Given the description of an element on the screen output the (x, y) to click on. 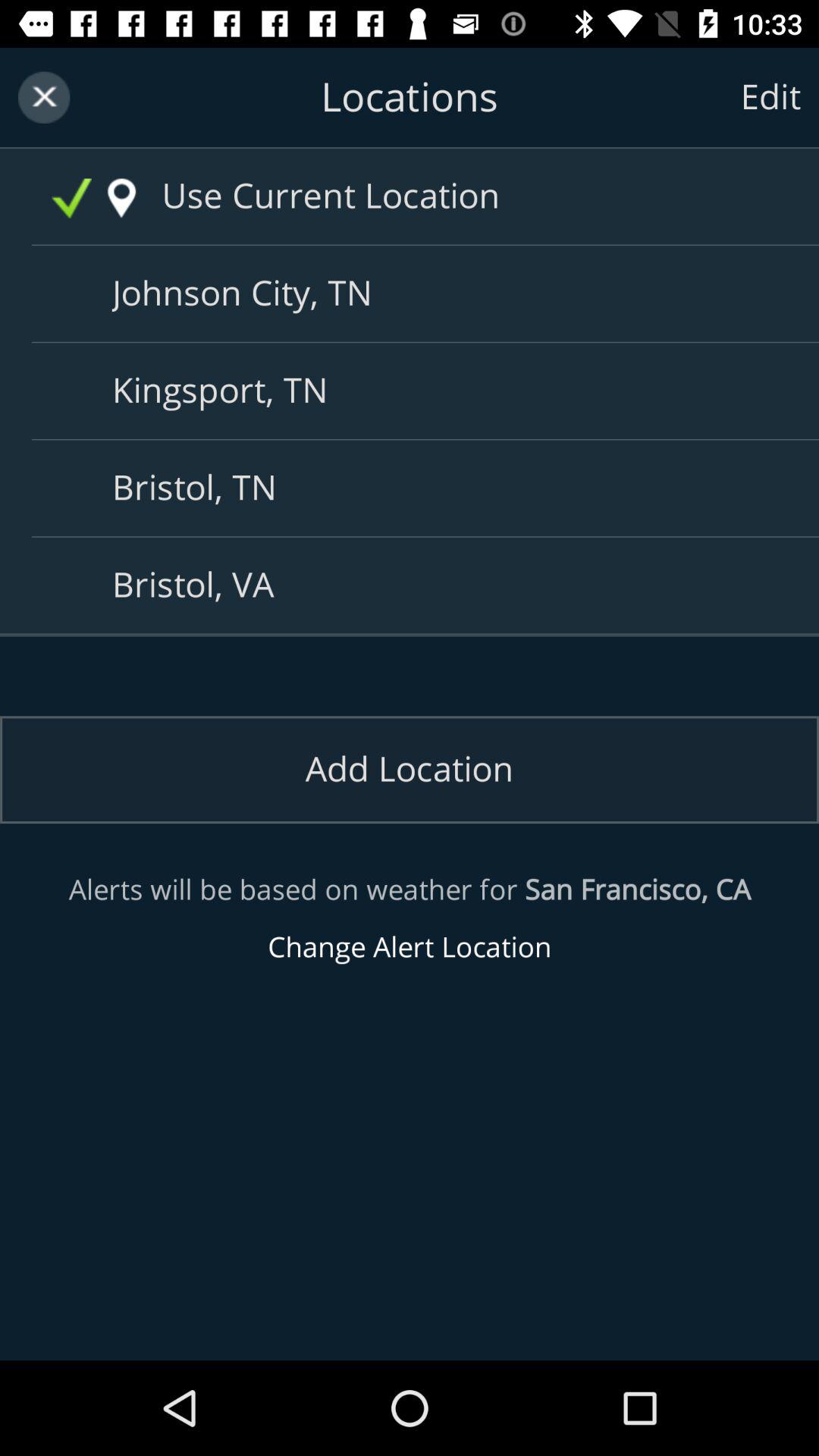
go to kingsport (415, 390)
